Given the description of an element on the screen output the (x, y) to click on. 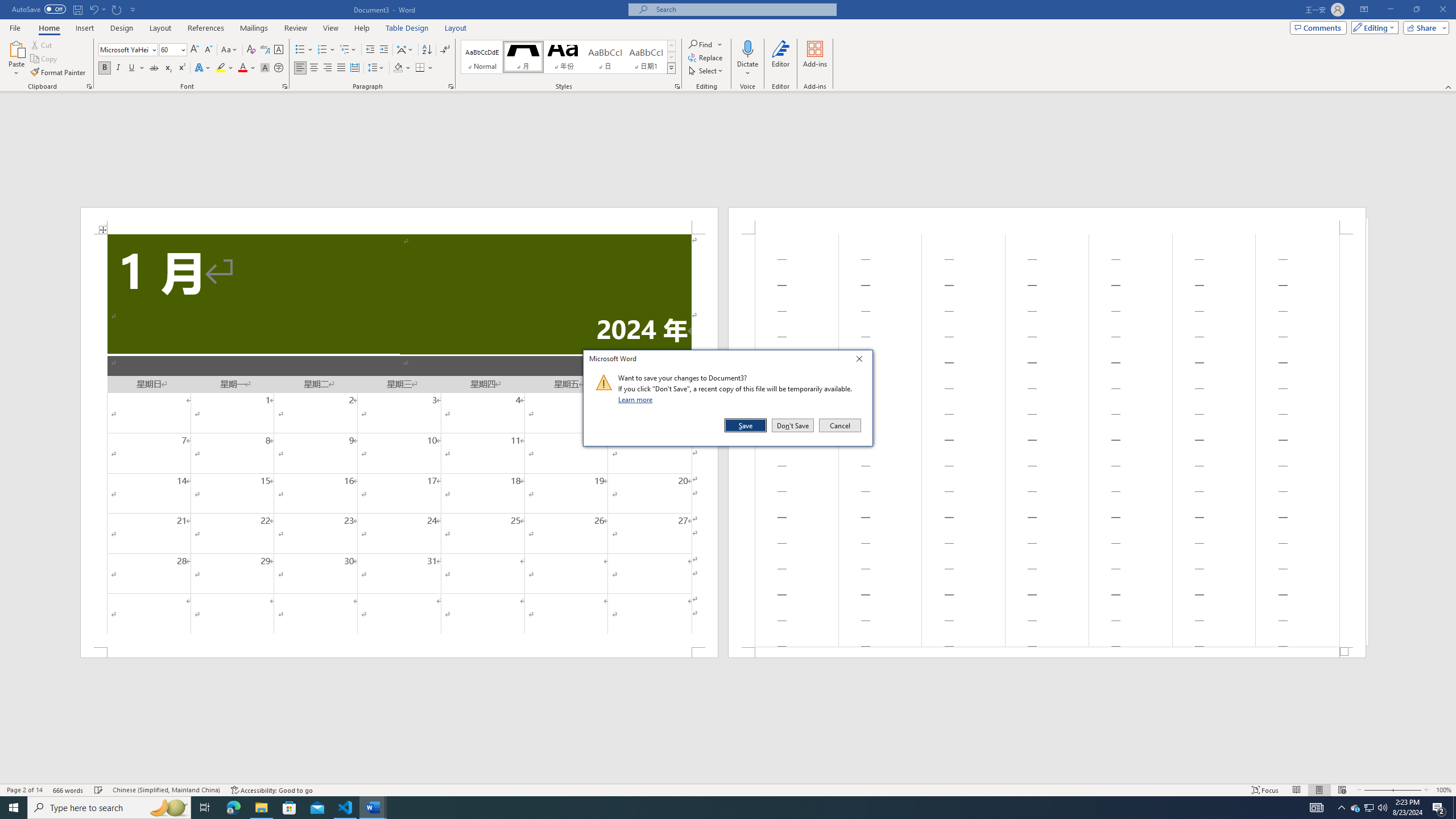
Word Count 666 words (68, 790)
Word - 2 running windows (373, 807)
